Given the description of an element on the screen output the (x, y) to click on. 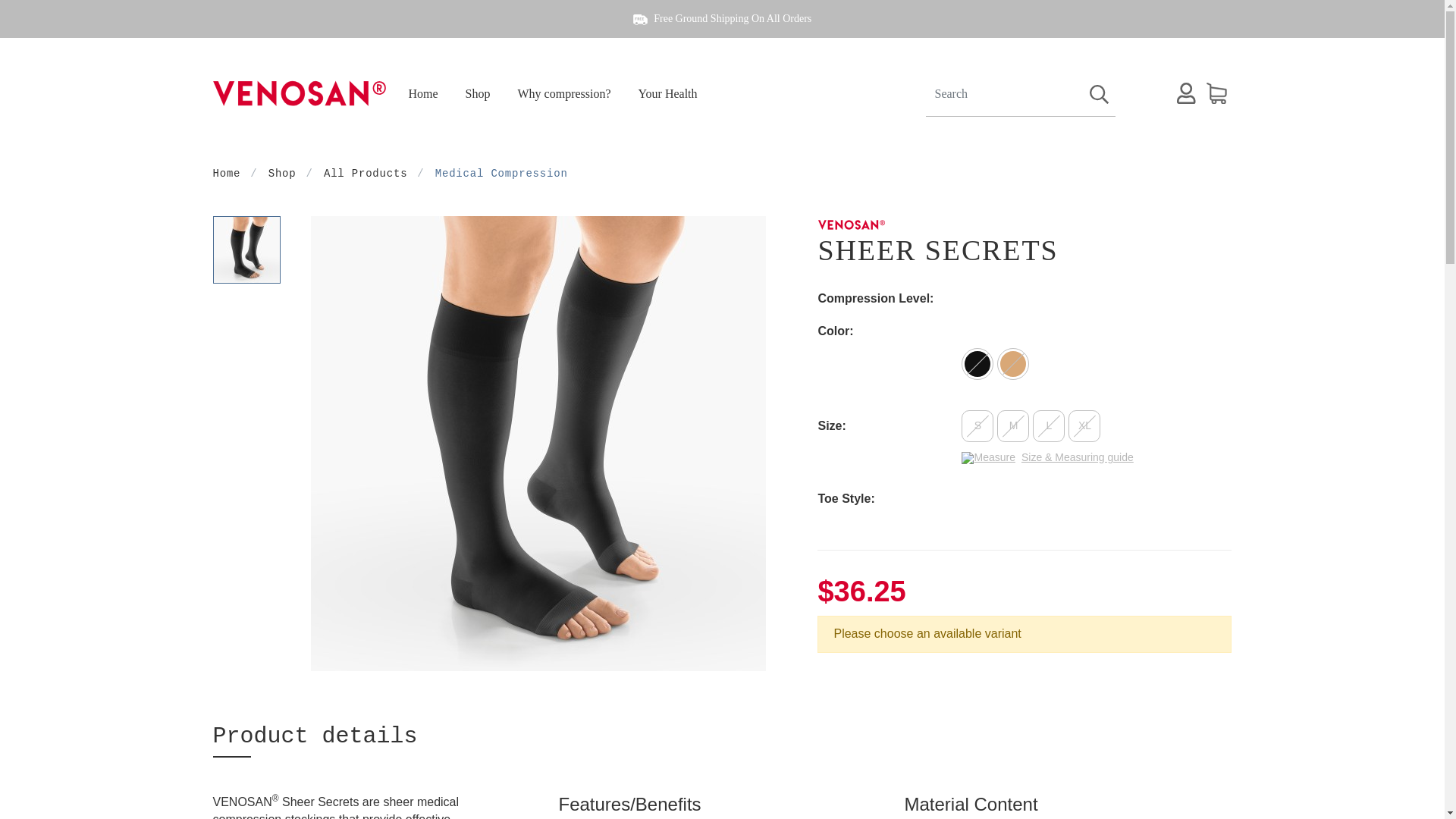
Medical Compression (501, 173)
silky beige (1014, 364)
Home (226, 173)
Home (422, 93)
classic black (978, 364)
Shop (282, 173)
Shop (282, 173)
Why compression? (564, 93)
Search (1099, 93)
Your Health (667, 93)
All Products (365, 173)
All Products (365, 173)
Shop (478, 93)
Medical Compression (501, 173)
